Given the description of an element on the screen output the (x, y) to click on. 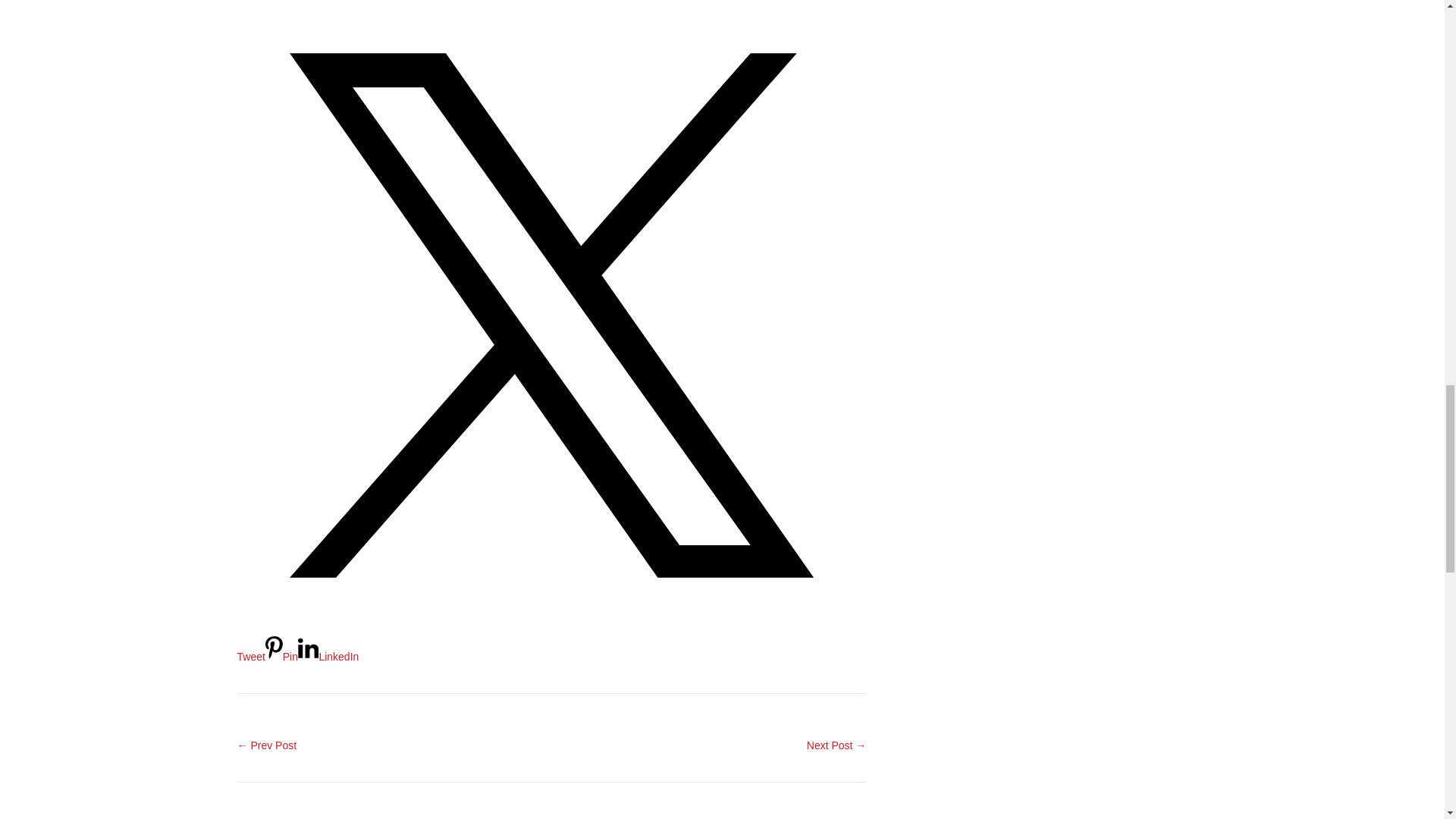
Share on Twitter (550, 640)
Share on Pinterest (281, 656)
Share on LinkedIn (328, 656)
